Given the description of an element on the screen output the (x, y) to click on. 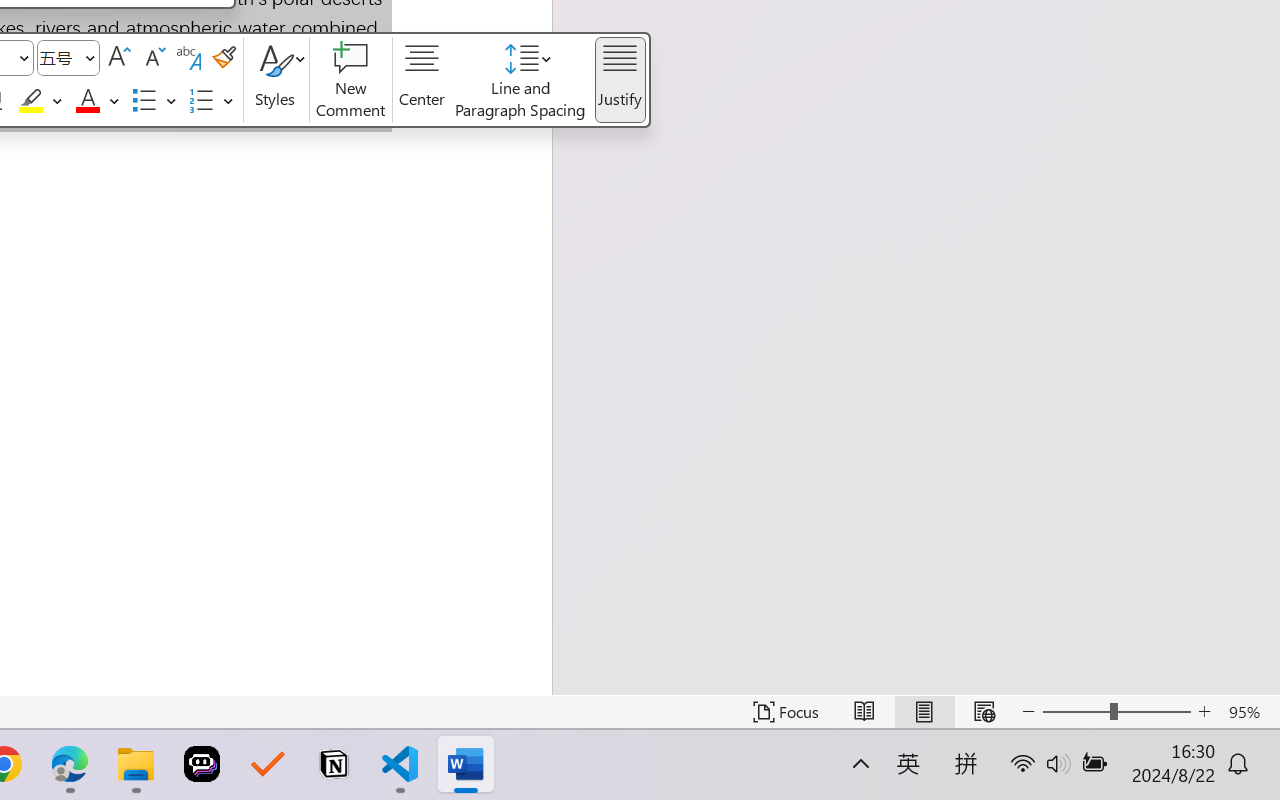
Phonetic Guide... (188, 58)
Font Color (98, 101)
Class: NetUITextbox (59, 57)
Shrink Font (154, 58)
Text Highlight Color Yellow (31, 101)
Class: NetUIComboboxAnchor (68, 58)
Notion (333, 764)
